Given the description of an element on the screen output the (x, y) to click on. 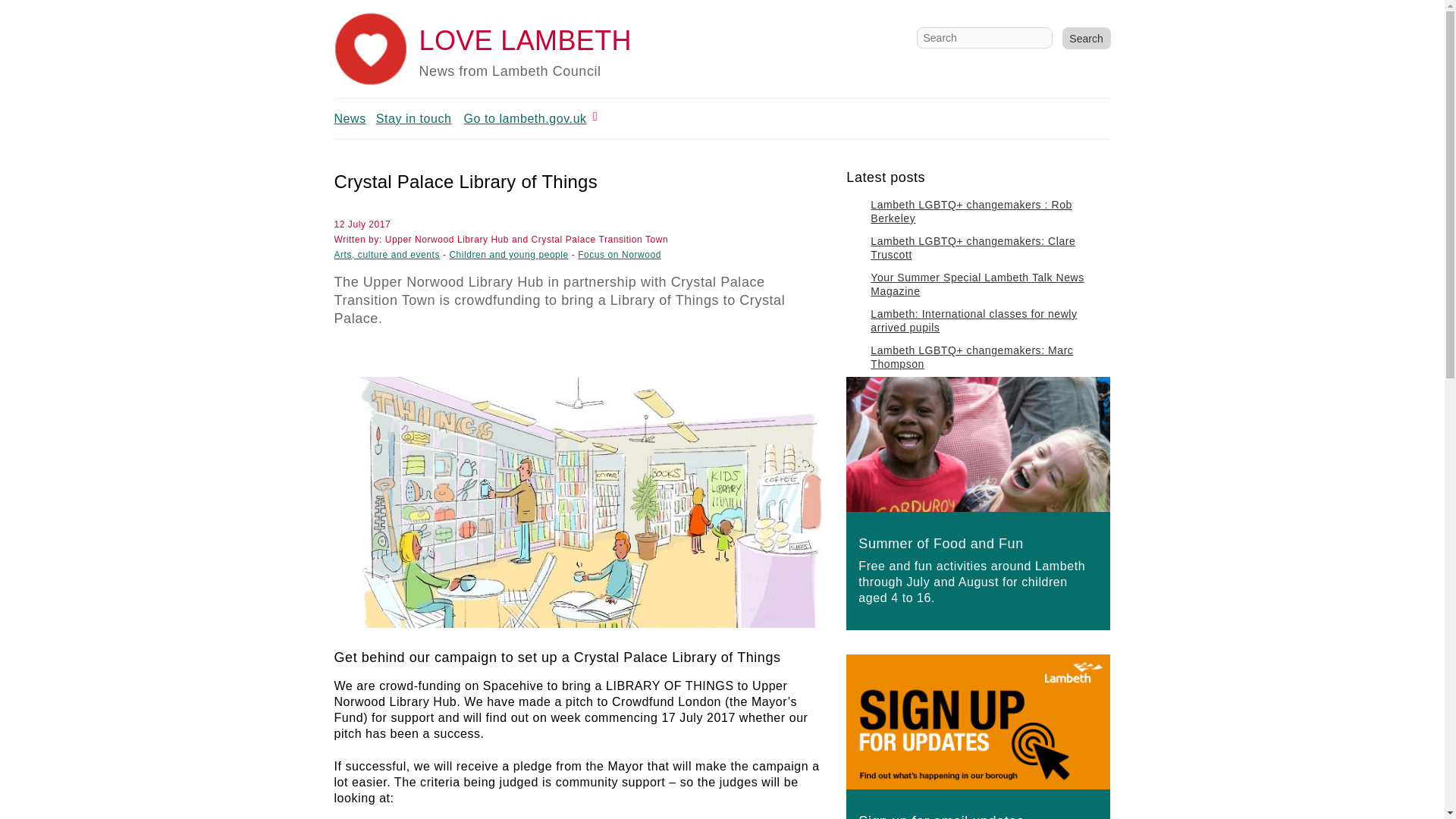
News (349, 118)
Stay in touch (413, 118)
Arts, culture and events (386, 254)
Search (1085, 38)
Your Summer Special Lambeth Talk News Magazine (976, 284)
Go to lambeth.gov.uk (525, 118)
Focus on Norwood (619, 254)
Lambeth: International classes for newly arrived pupils (973, 320)
Lambeth: International classes for newly arrived pupils (973, 320)
Children and young people (507, 254)
Search (1085, 38)
Your Summer Special Lambeth Talk News Magazine (976, 284)
